Given the description of an element on the screen output the (x, y) to click on. 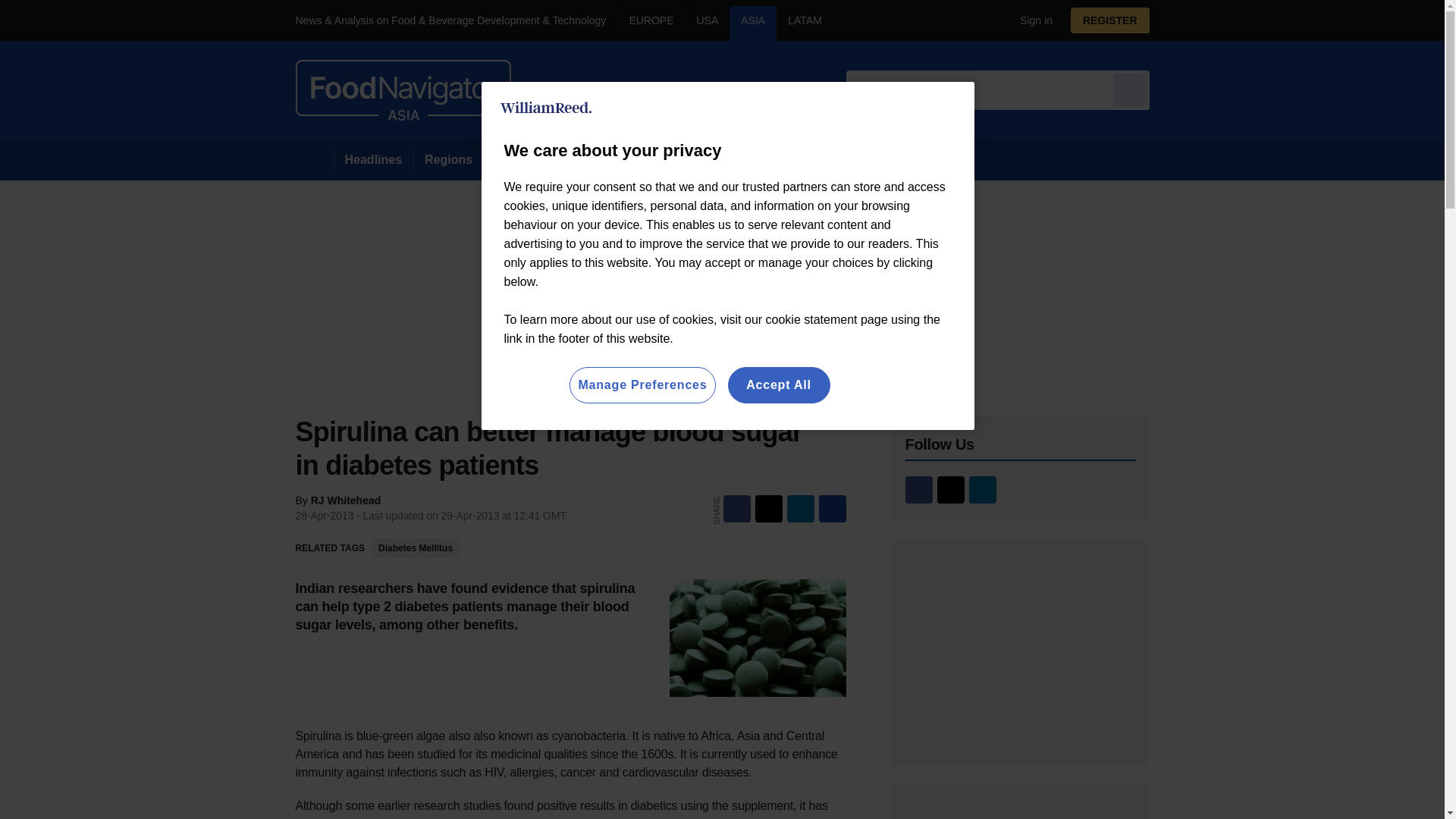
Home (314, 159)
Sign out (1032, 20)
Regions (448, 159)
Headlines (373, 159)
William Reed (545, 107)
LATAM (804, 22)
REGISTER (1110, 20)
Home (313, 159)
My account (1114, 20)
FoodNavigator Asia (403, 89)
ASIA (752, 22)
3rd party ad content (1020, 652)
Send (1129, 89)
Sign in (1029, 20)
EUROPE (650, 22)
